Given the description of an element on the screen output the (x, y) to click on. 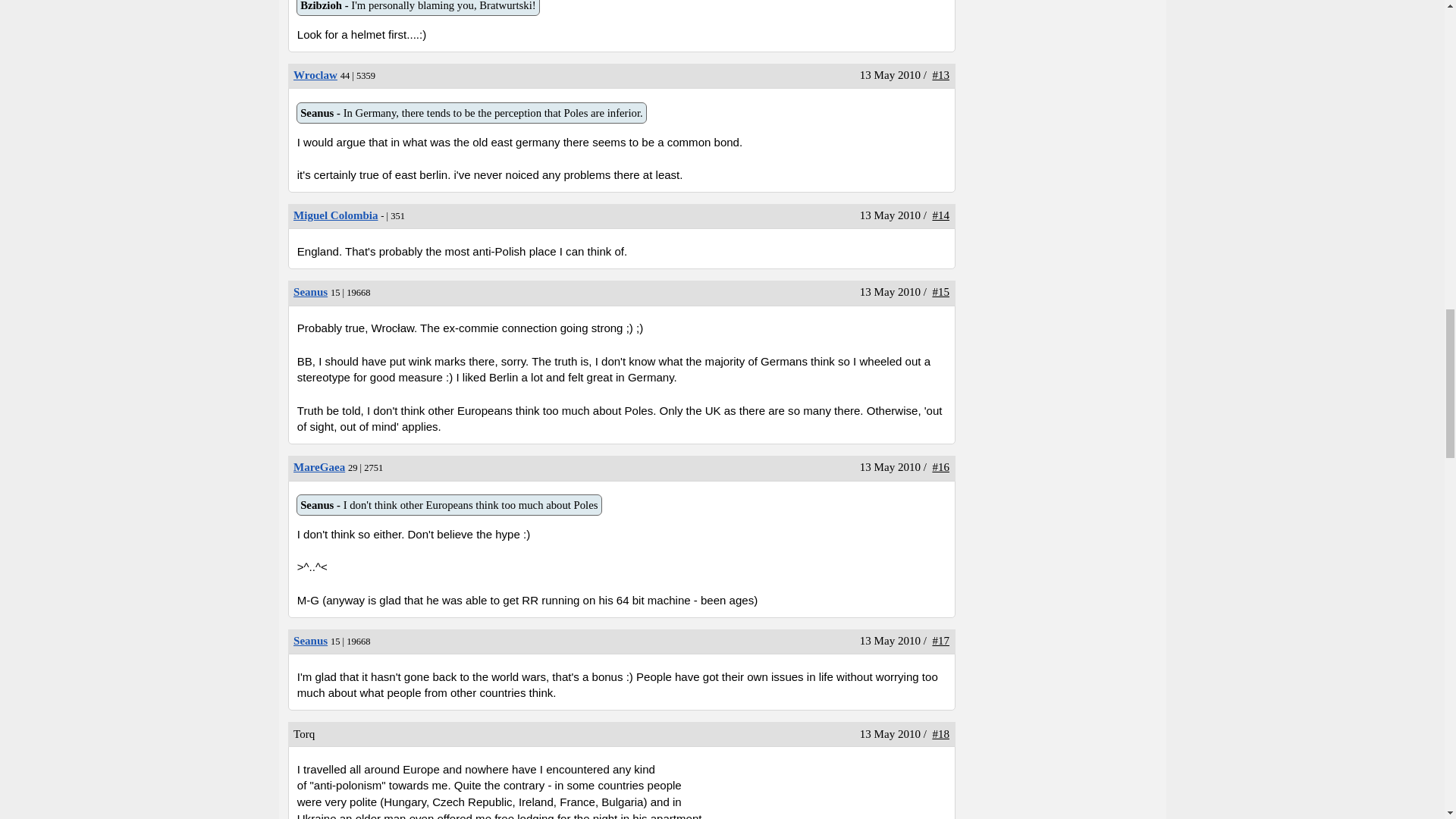
MareGaea (319, 467)
Seanus (310, 640)
Miguel Colombia (335, 215)
Seanus (310, 291)
Wroclaw (315, 74)
